Given the description of an element on the screen output the (x, y) to click on. 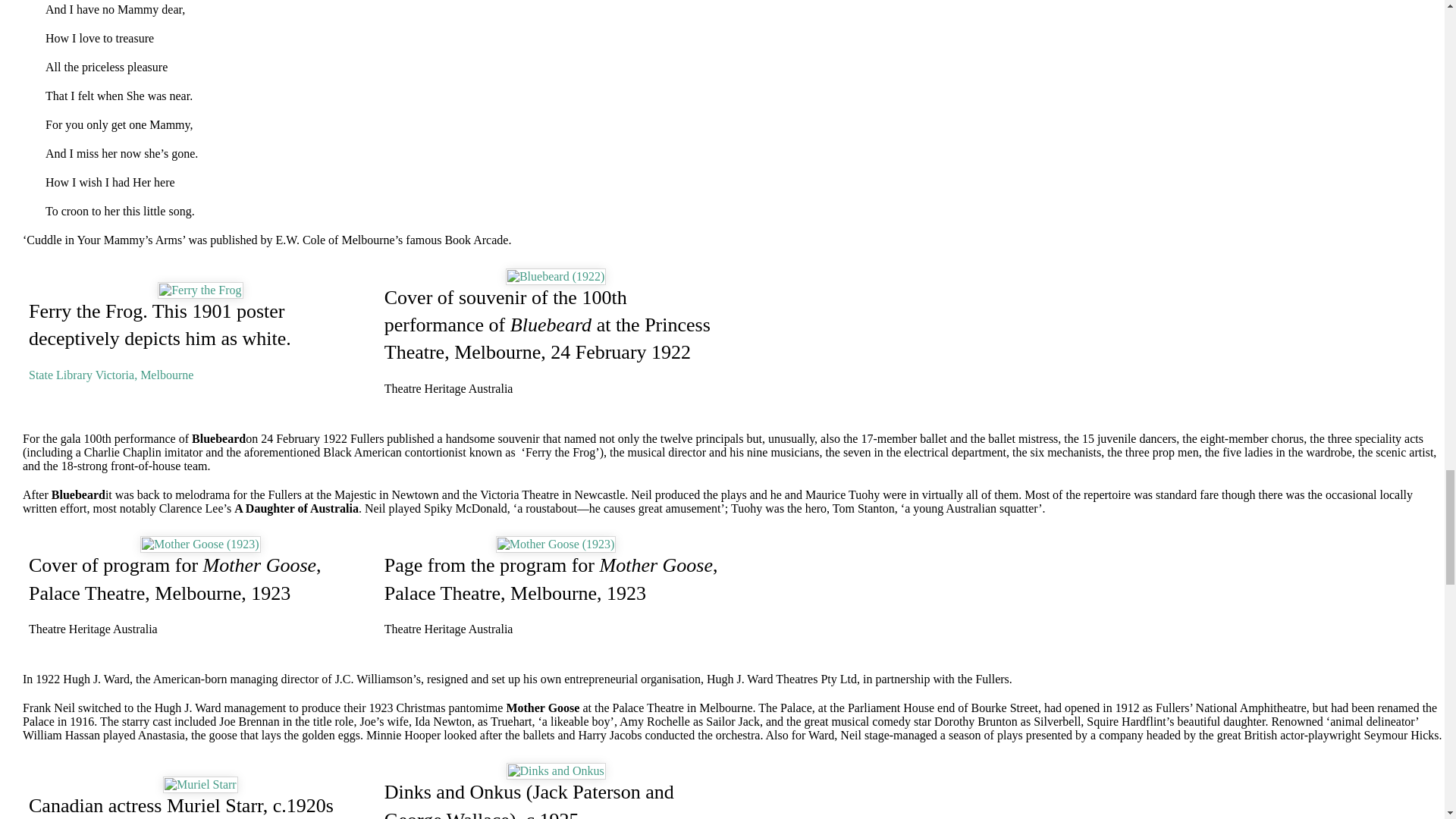
Muriel Starr (200, 784)
Dinks and Onkus (555, 770)
Ferry the Frog (199, 290)
